Given the description of an element on the screen output the (x, y) to click on. 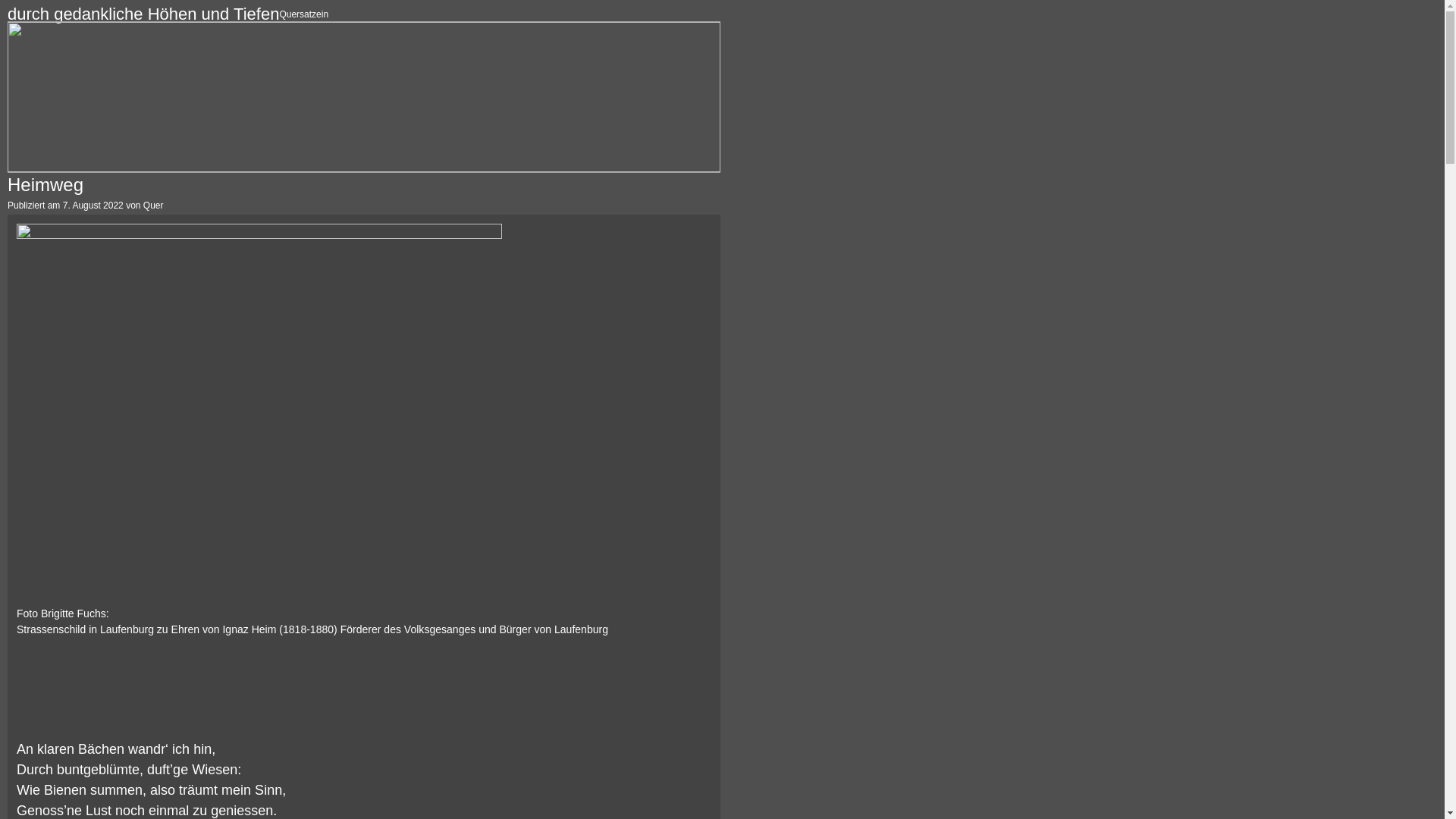
Quer Element type: text (153, 205)
Quersatzein Element type: text (303, 14)
7. August 2022 Element type: text (92, 205)
